Given the description of an element on the screen output the (x, y) to click on. 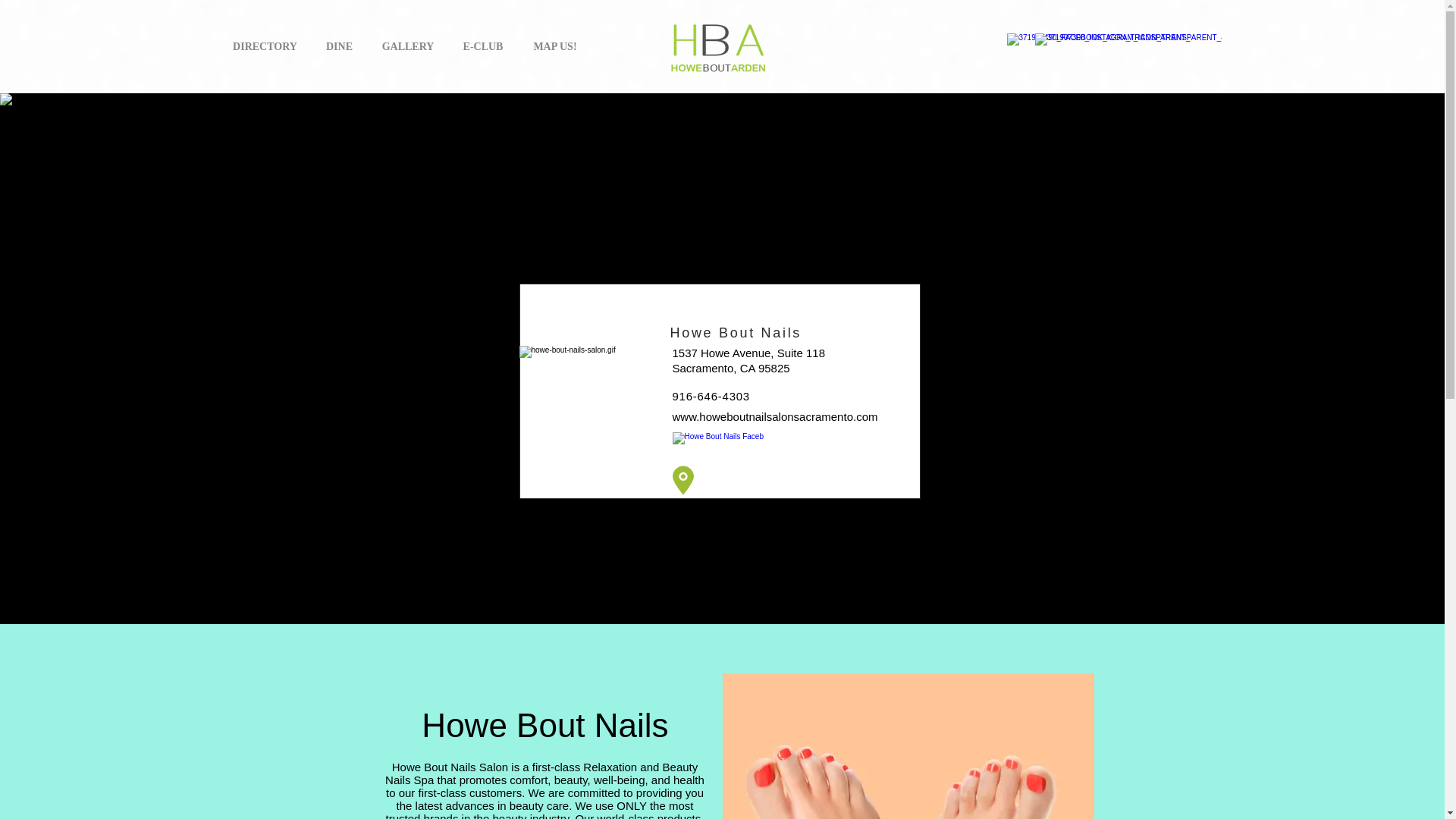
MAP US! (555, 46)
www.howeboutnailsalonsacramento.com (774, 416)
E-CLUB (482, 46)
GALLERY (408, 46)
DINE (339, 46)
